Given the description of an element on the screen output the (x, y) to click on. 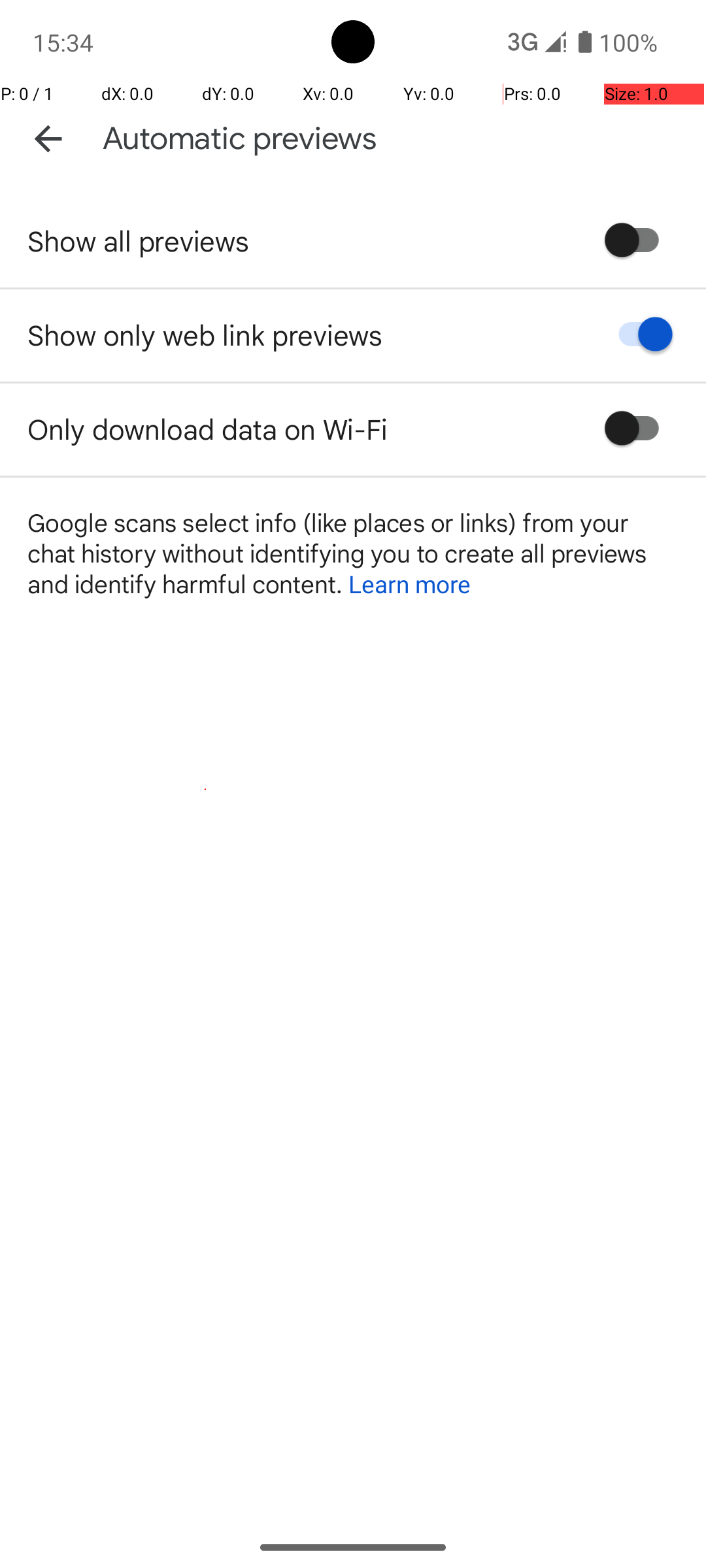
Automatic previews Element type: android.widget.TextView (239, 138)
Google scans select info (like places or links) from your chat history without identifying you to create all previews and identify harmful content. Learn more Element type: android.widget.TextView (353, 552)
Show all previews Element type: android.widget.TextView (138, 240)
Show only web link previews Element type: android.widget.TextView (205, 334)
Only download data on Wi-Fi Element type: android.widget.TextView (207, 428)
